Given the description of an element on the screen output the (x, y) to click on. 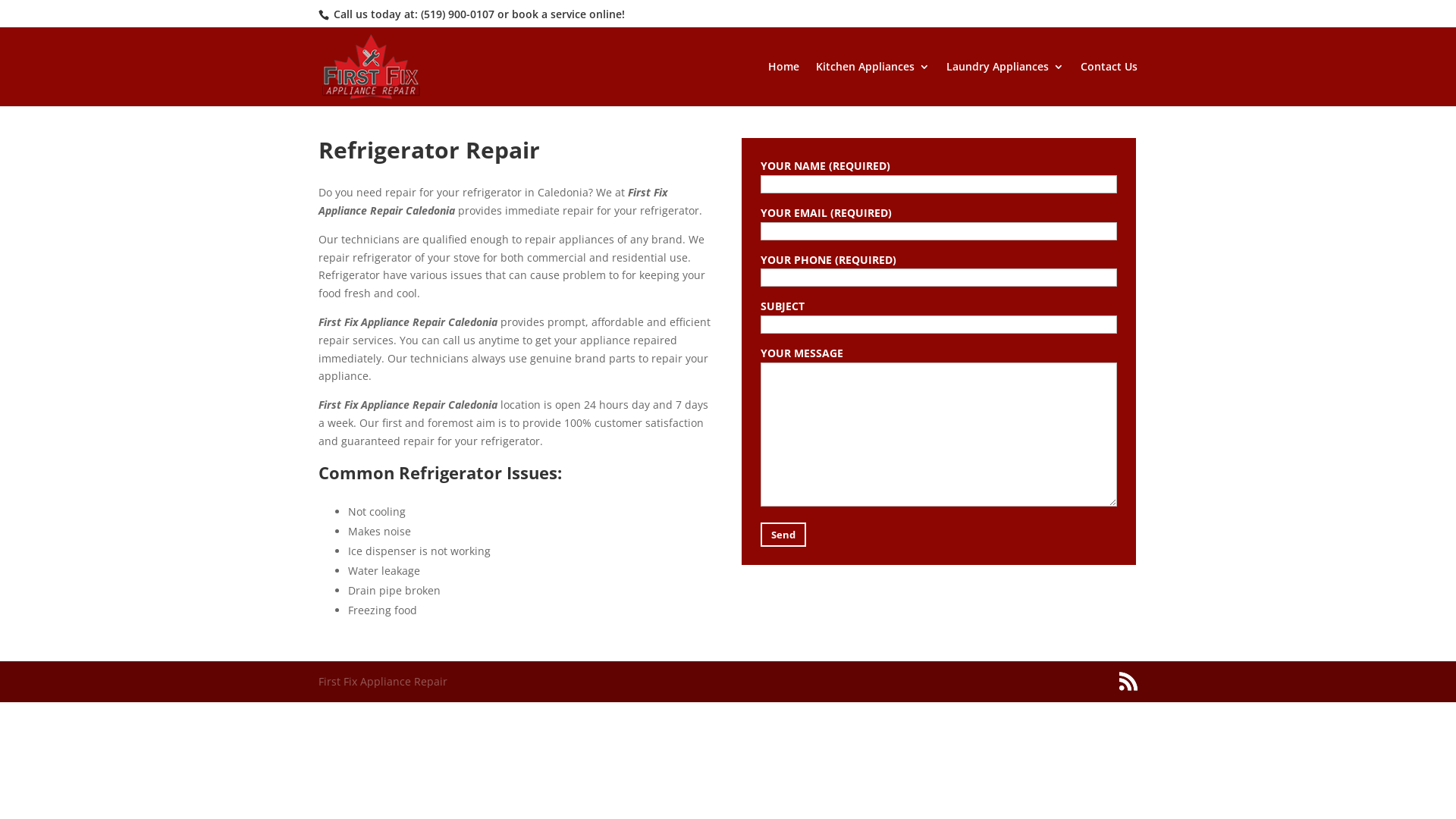
Home Element type: text (783, 83)
(519) 900-0107 Element type: text (457, 13)
Contact Us Element type: text (1108, 83)
Send Element type: text (783, 534)
Kitchen Appliances Element type: text (872, 83)
Laundry Appliances Element type: text (1004, 83)
